Given the description of an element on the screen output the (x, y) to click on. 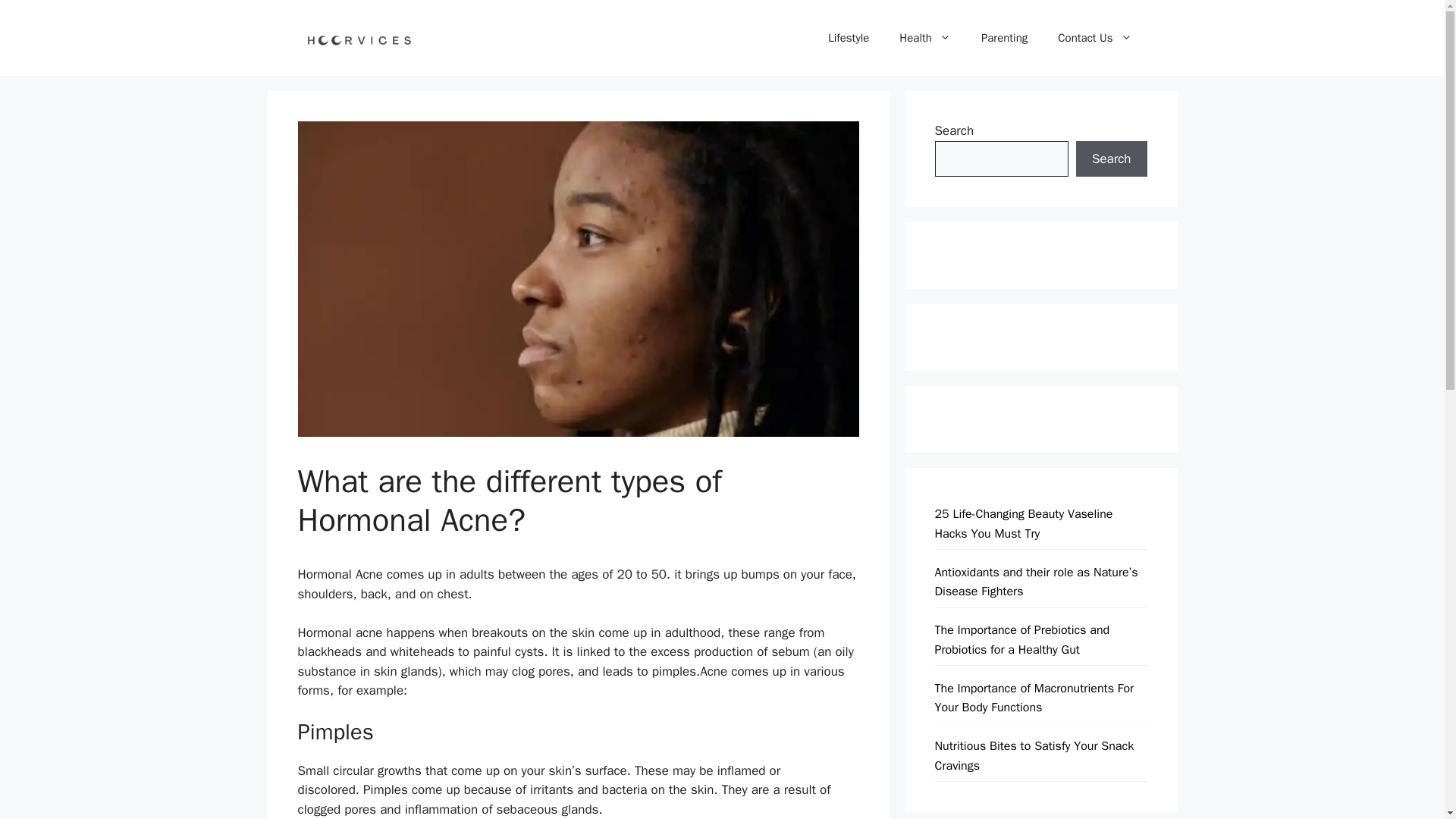
Nutritious Bites to Satisfy Your Snack Cravings (1034, 755)
25 Life-Changing Beauty Vaseline Hacks You Must Try (1023, 523)
Contact Us (1094, 37)
Lifestyle (847, 37)
Search (1111, 158)
The Importance of Macronutrients For Your Body Functions (1034, 697)
Health (924, 37)
Parenting (1004, 37)
